Given the description of an element on the screen output the (x, y) to click on. 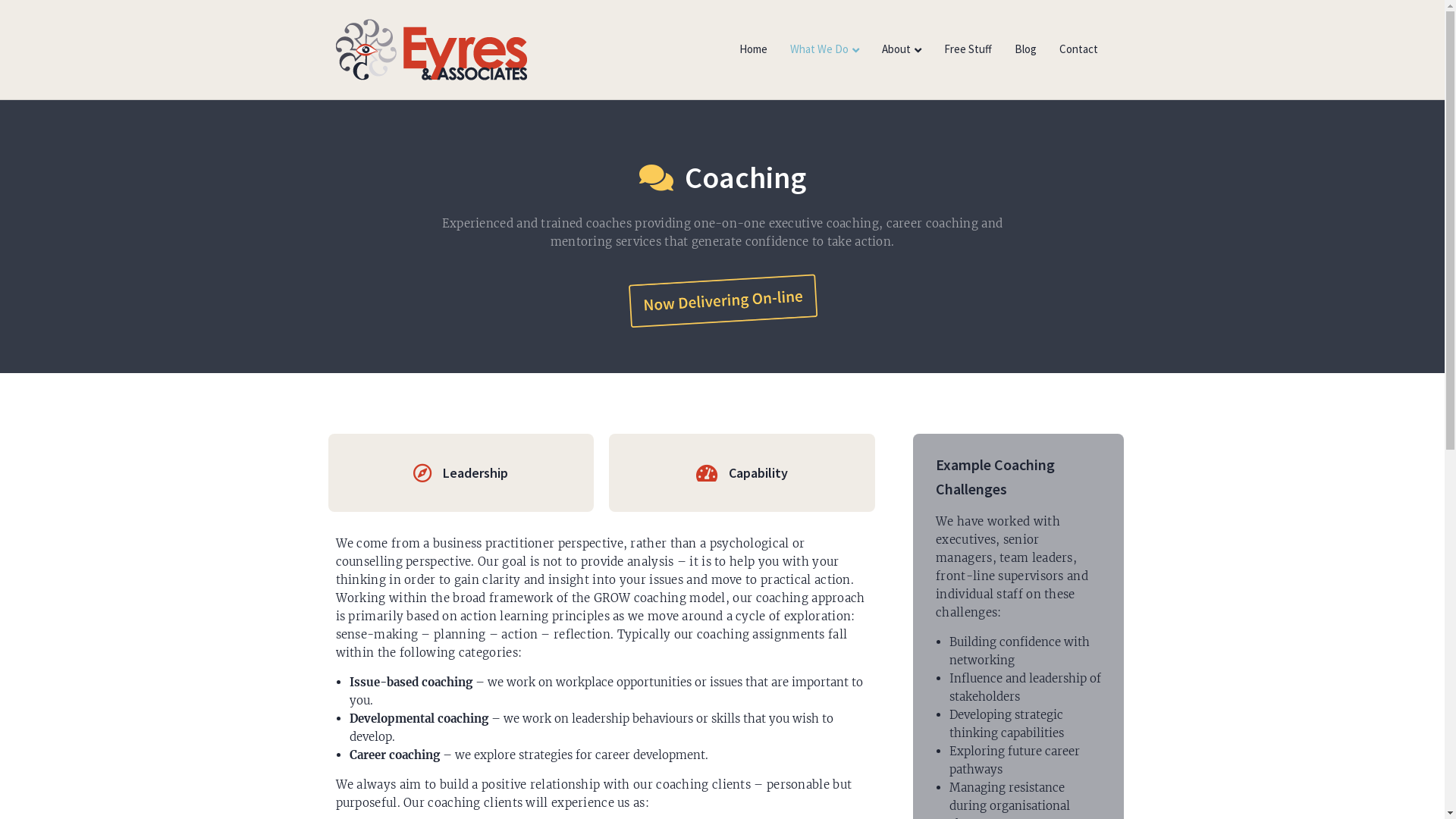
What We Do Element type: text (823, 49)
About Element type: text (901, 49)
Free Stuff Element type: text (967, 48)
Home Element type: text (753, 48)
Blog Element type: text (1024, 48)
now-delivering-online-yellow Element type: hover (722, 300)
Contact Element type: text (1078, 48)
